Given the description of an element on the screen output the (x, y) to click on. 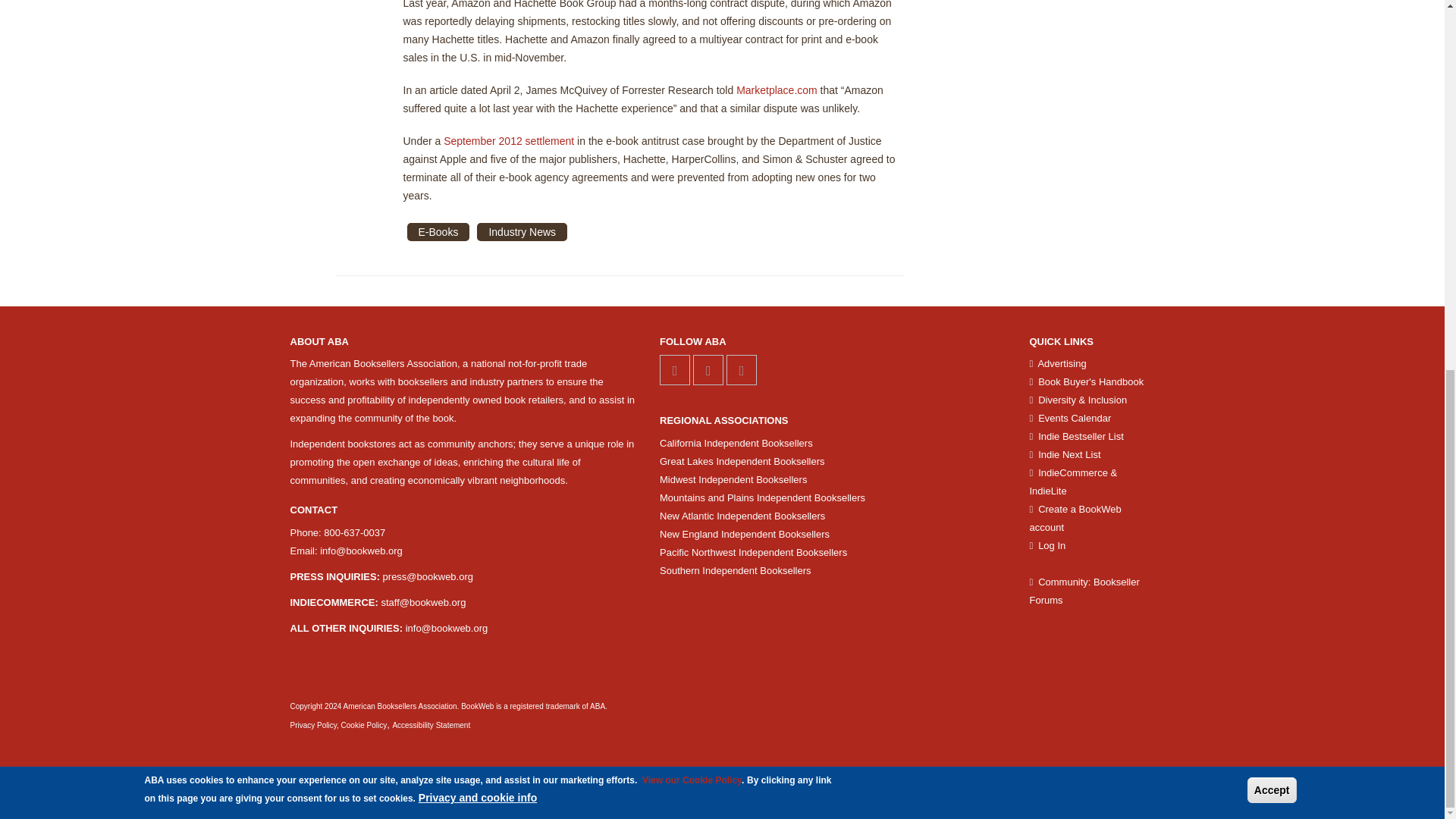
Accept (1272, 119)
Privacy and cookie info (478, 126)
View our Cookie Policy (691, 109)
